Given the description of an element on the screen output the (x, y) to click on. 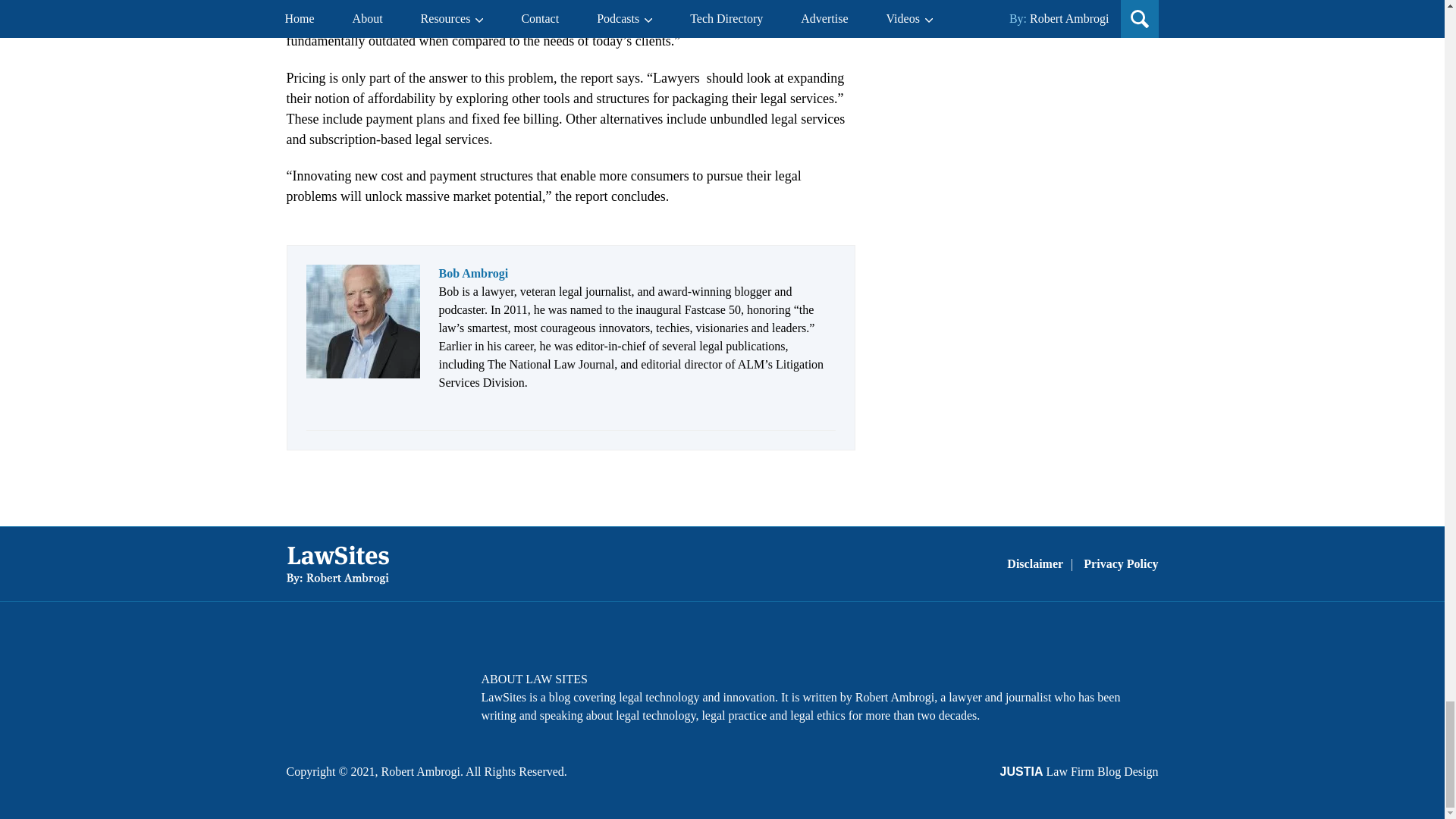
Bob Ambrogi (473, 273)
Twitter (344, 688)
Feed (424, 688)
Facebook (304, 688)
LinkedIn (384, 688)
